Given the description of an element on the screen output the (x, y) to click on. 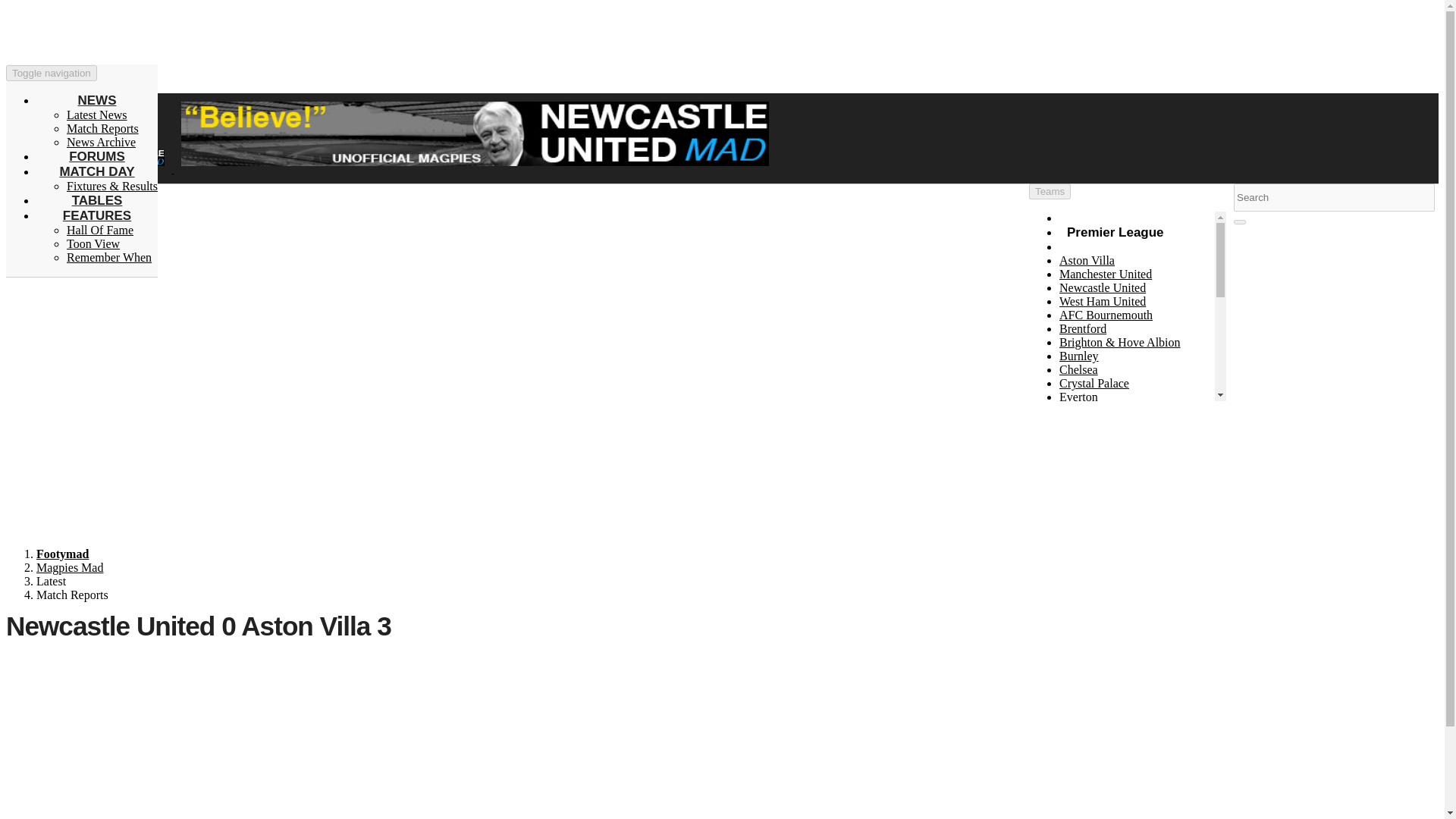
Arsenal (1078, 505)
FORUMS (96, 156)
NEWS (96, 100)
Teams (1049, 191)
Tottenham Hotspur (1106, 478)
Manchester United (1105, 273)
Crystal Palace (1094, 382)
West Ham United (1102, 300)
News Archive (100, 141)
Match Reports (102, 128)
